Given the description of an element on the screen output the (x, y) to click on. 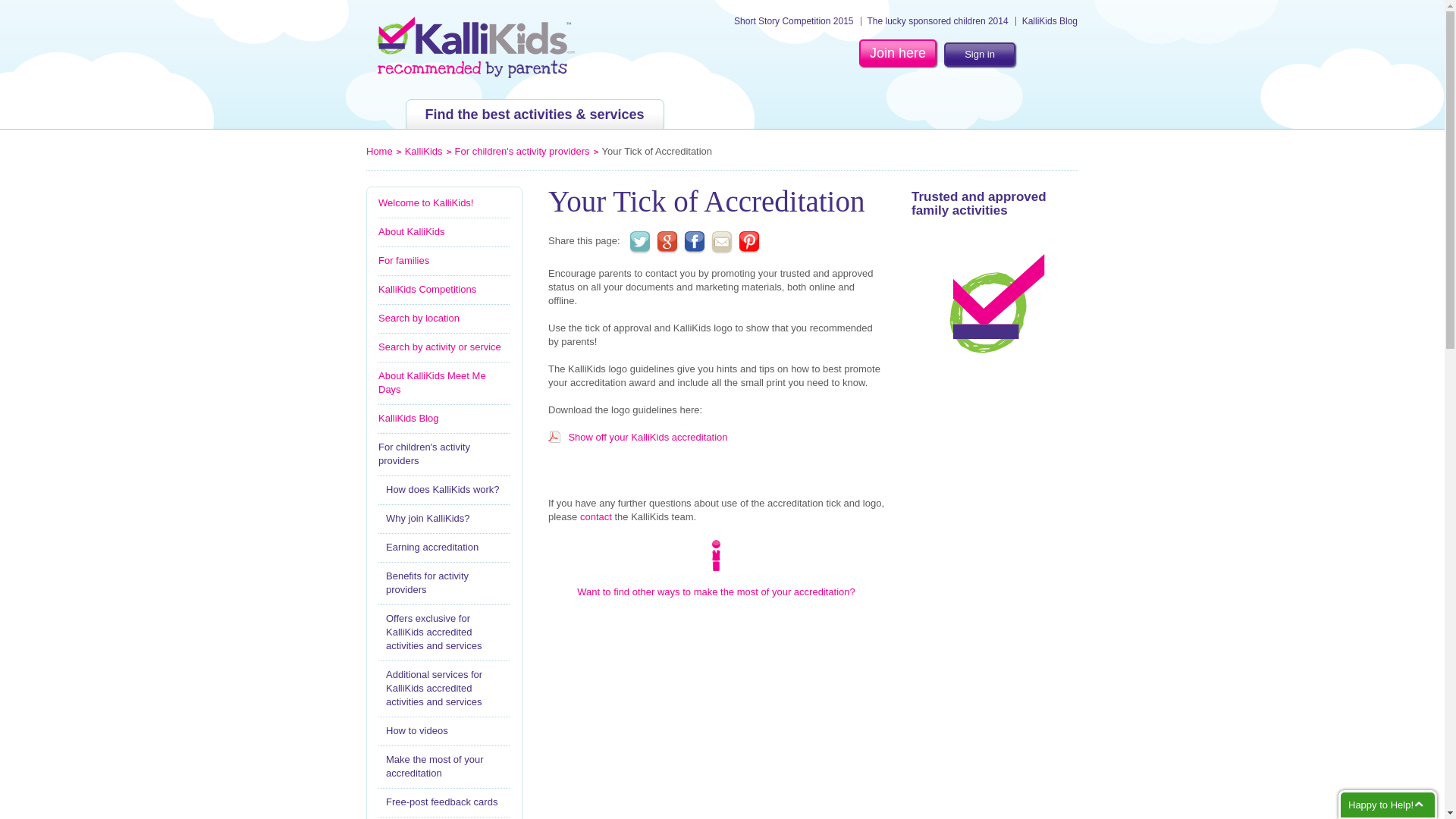
For children's activity providers (521, 151)
kallikids (476, 46)
Make the most of your accreditation (444, 766)
Email (721, 241)
About KalliKids (444, 232)
Search by location (444, 318)
KalliKids (423, 151)
How to videos (444, 730)
Home (379, 151)
For children's activity providers (444, 457)
Tweet (639, 241)
Show off your KalliKids accreditation (646, 437)
Why join KalliKids? (444, 518)
About KalliKids Meet Me Days (444, 382)
